Given the description of an element on the screen output the (x, y) to click on. 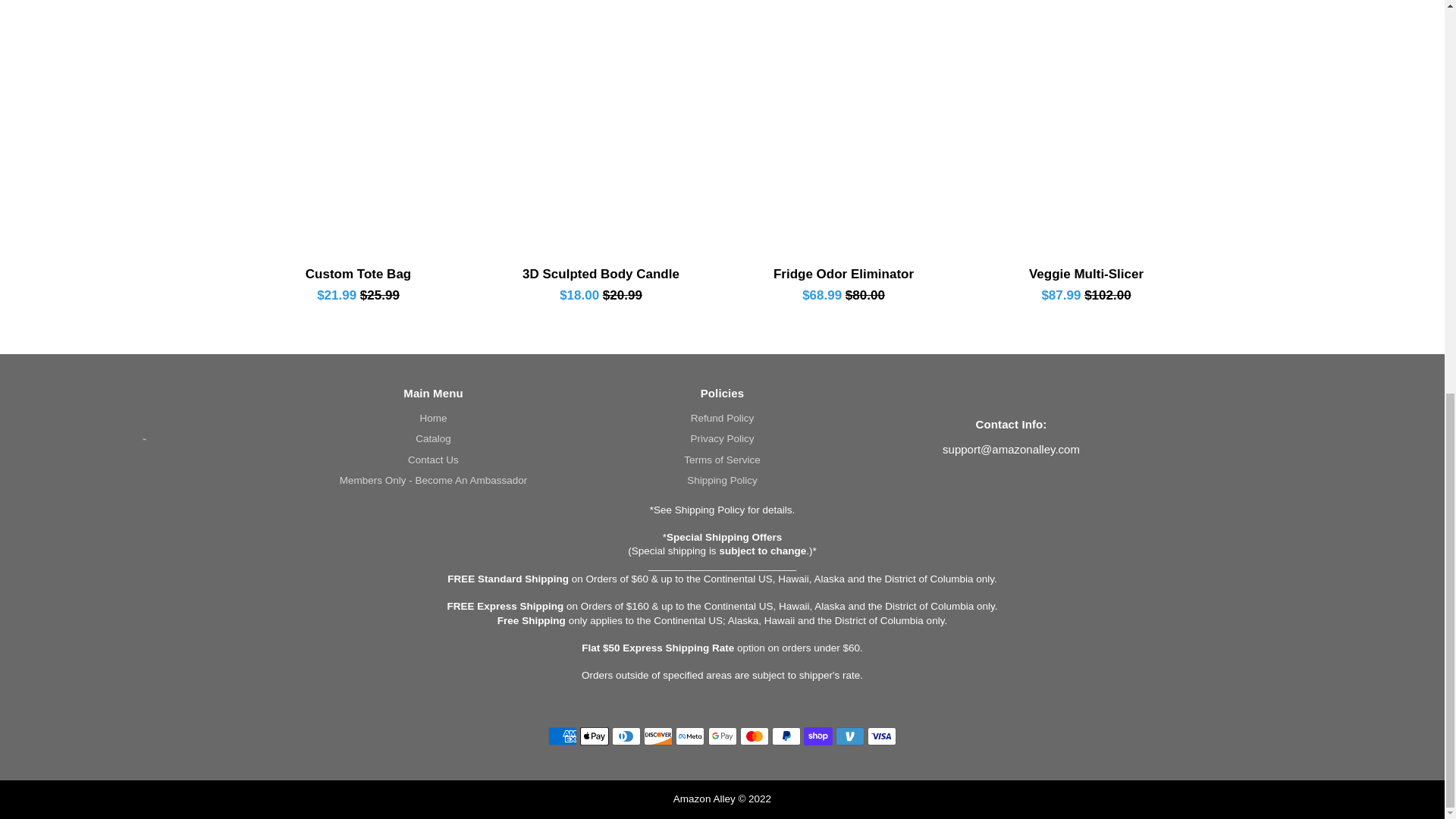
Diners Club (625, 736)
Meta Pay (689, 736)
American Express (562, 736)
Discover (657, 736)
Mastercard (753, 736)
Apple Pay (593, 736)
Shop Pay (817, 736)
PayPal (785, 736)
Visa (881, 736)
Google Pay (721, 736)
Venmo (849, 736)
